Given the description of an element on the screen output the (x, y) to click on. 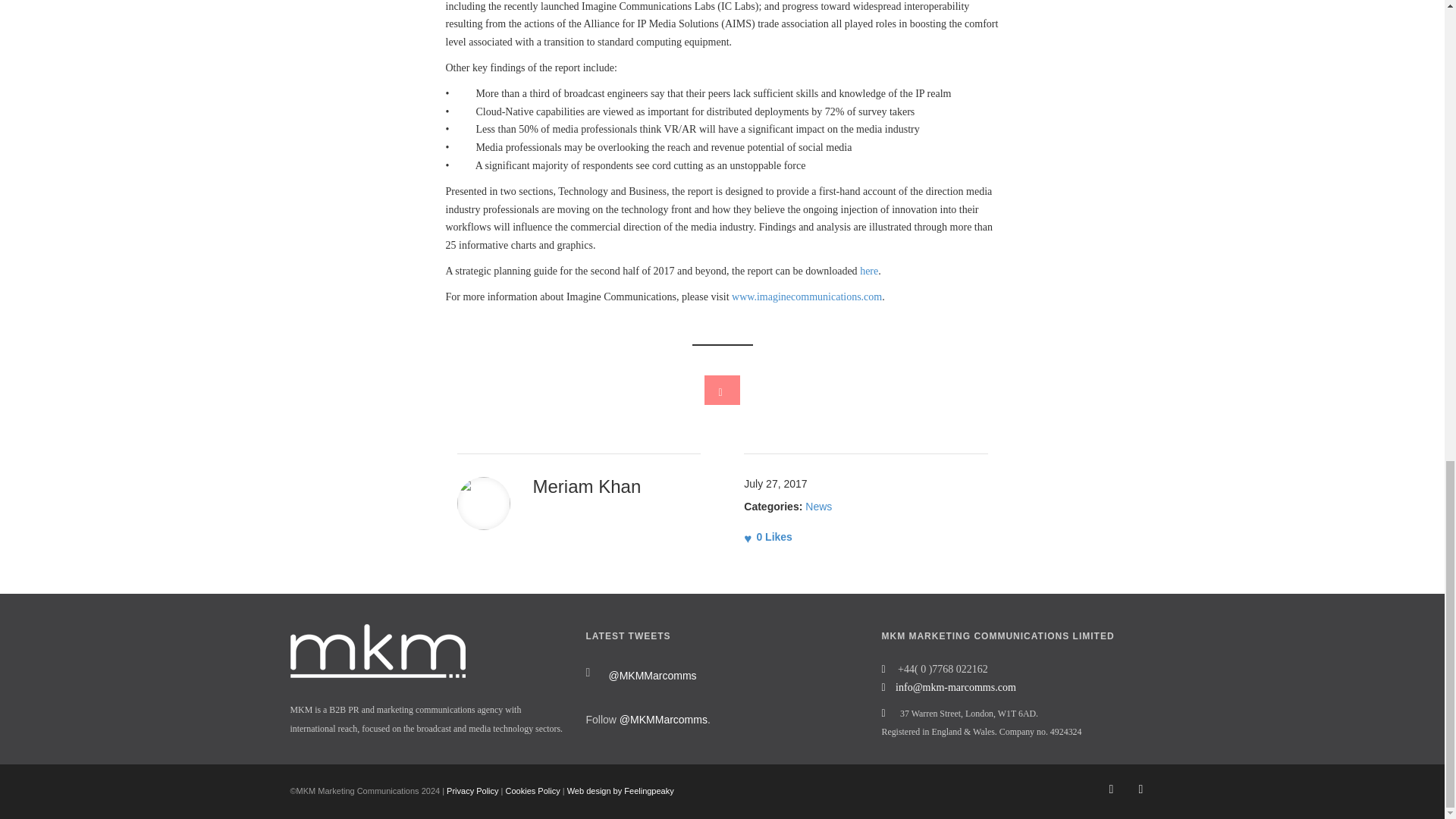
News (818, 506)
www.imaginecommunications.com (807, 296)
here (868, 270)
0 Likes (768, 536)
